Given the description of an element on the screen output the (x, y) to click on. 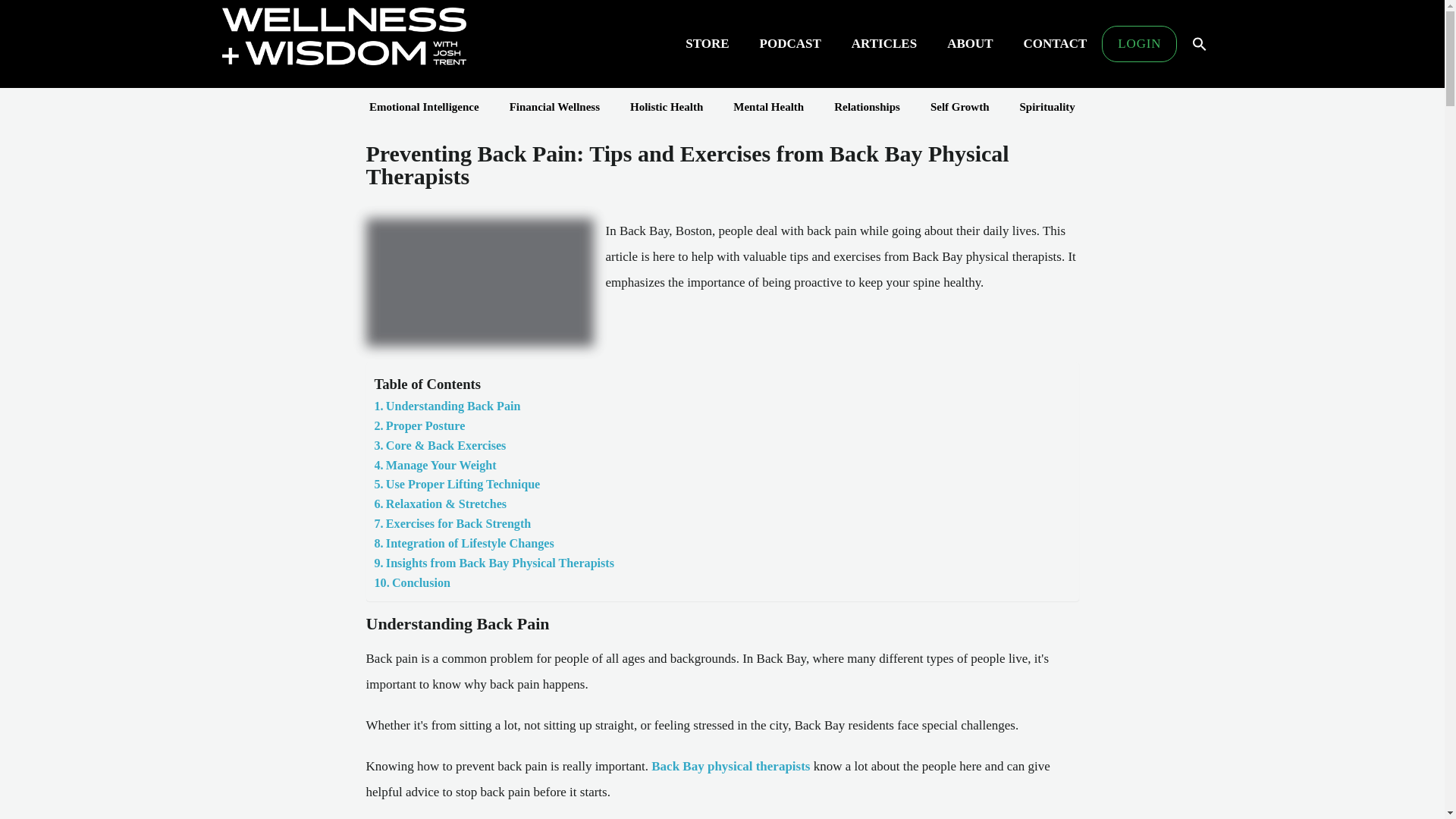
Insights from Back Bay Physical Therapists (494, 563)
CONTACT (1055, 43)
LOGIN (1139, 43)
PODCAST (789, 43)
Wellness Wisdom White White (343, 36)
Integration of Lifestyle Changes (464, 543)
Proper Posture (419, 425)
ARTICLES (883, 43)
ABOUT (969, 43)
Conclusion (412, 582)
